Given the description of an element on the screen output the (x, y) to click on. 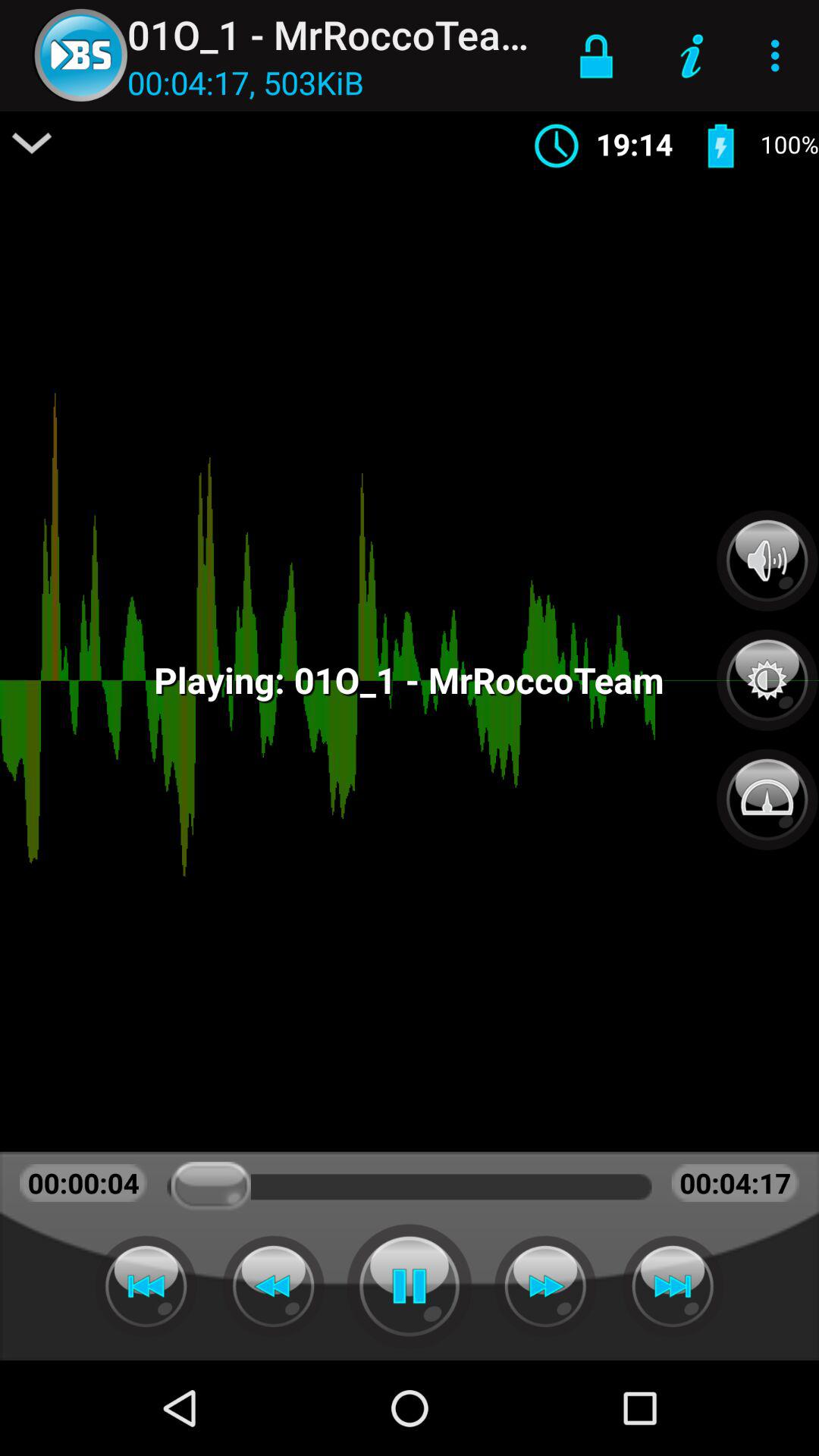
shows reverse icon (145, 1286)
